Given the description of an element on the screen output the (x, y) to click on. 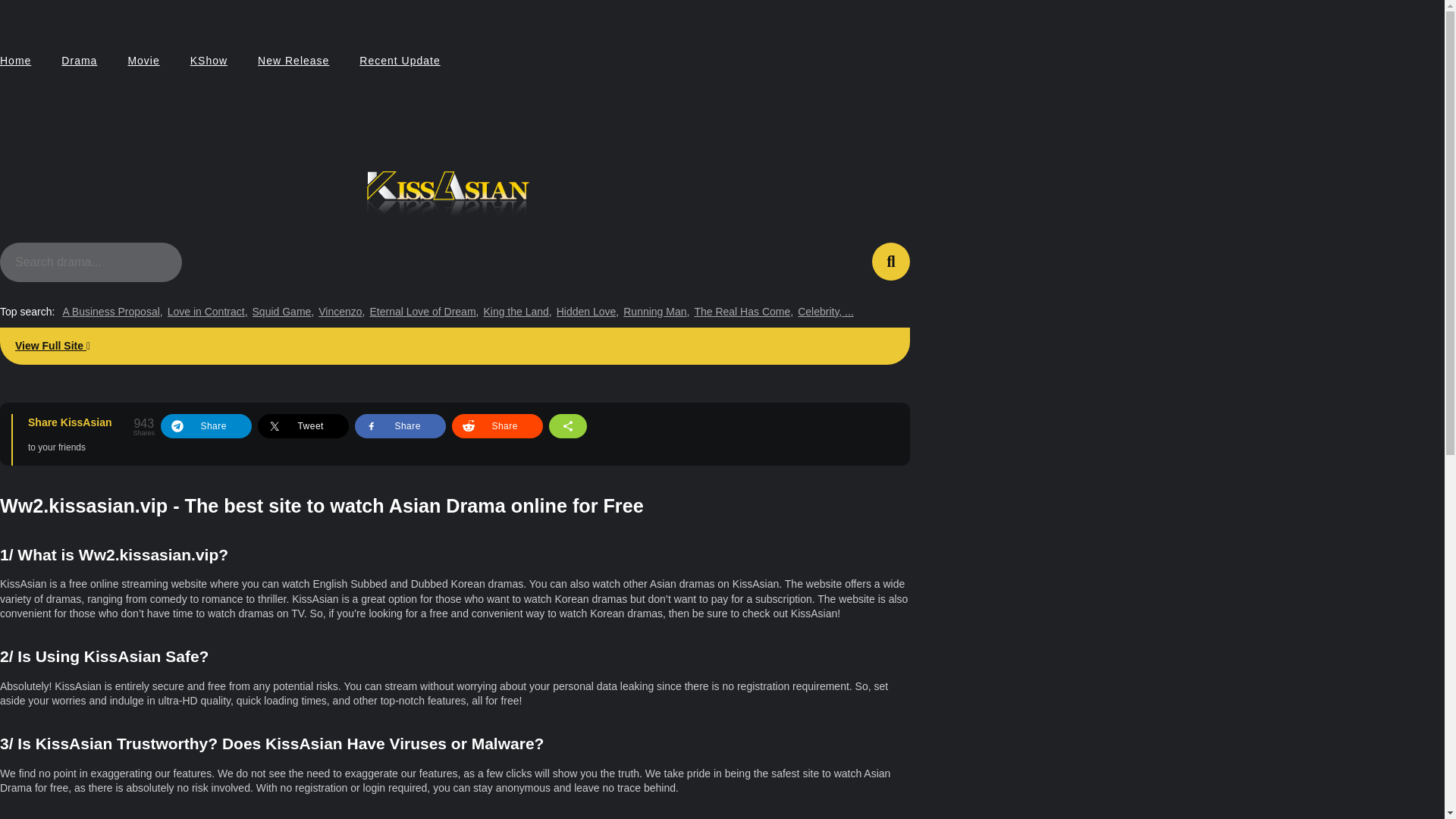
View Full Site (455, 346)
Running Man (655, 312)
Love in Contract (207, 312)
Vincenzo (341, 312)
Hidden Love (588, 312)
Eternal Love of Dream (424, 312)
The Real Has Come (743, 312)
King the Land (517, 312)
Recent Update (399, 60)
New Release (293, 60)
Celebrity (825, 312)
Recent Update (399, 60)
Squid Game (282, 312)
A Business Proposal (111, 312)
New Release (293, 60)
